Given the description of an element on the screen output the (x, y) to click on. 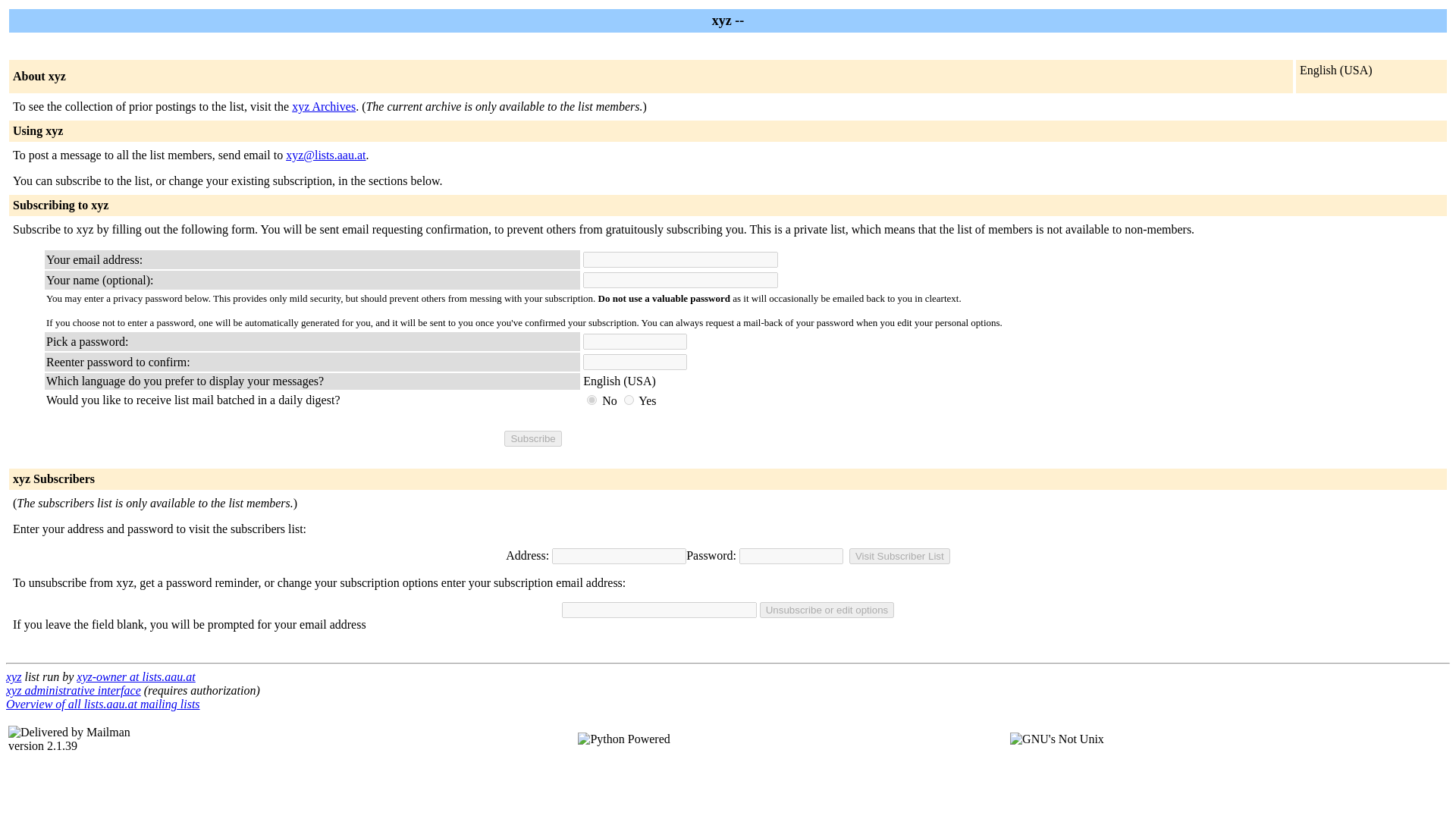
Visit Subscriber List (899, 555)
0 (591, 399)
Unsubscribe or edit options (827, 609)
Overview of all lists.aau.at mailing lists (102, 703)
xyz (13, 676)
xyz-owner at lists.aau.at (136, 676)
xyz administrative interface (73, 689)
xyz Archives (323, 106)
xyz Subscribers (53, 478)
1 (628, 399)
Subscribe (531, 438)
